Given the description of an element on the screen output the (x, y) to click on. 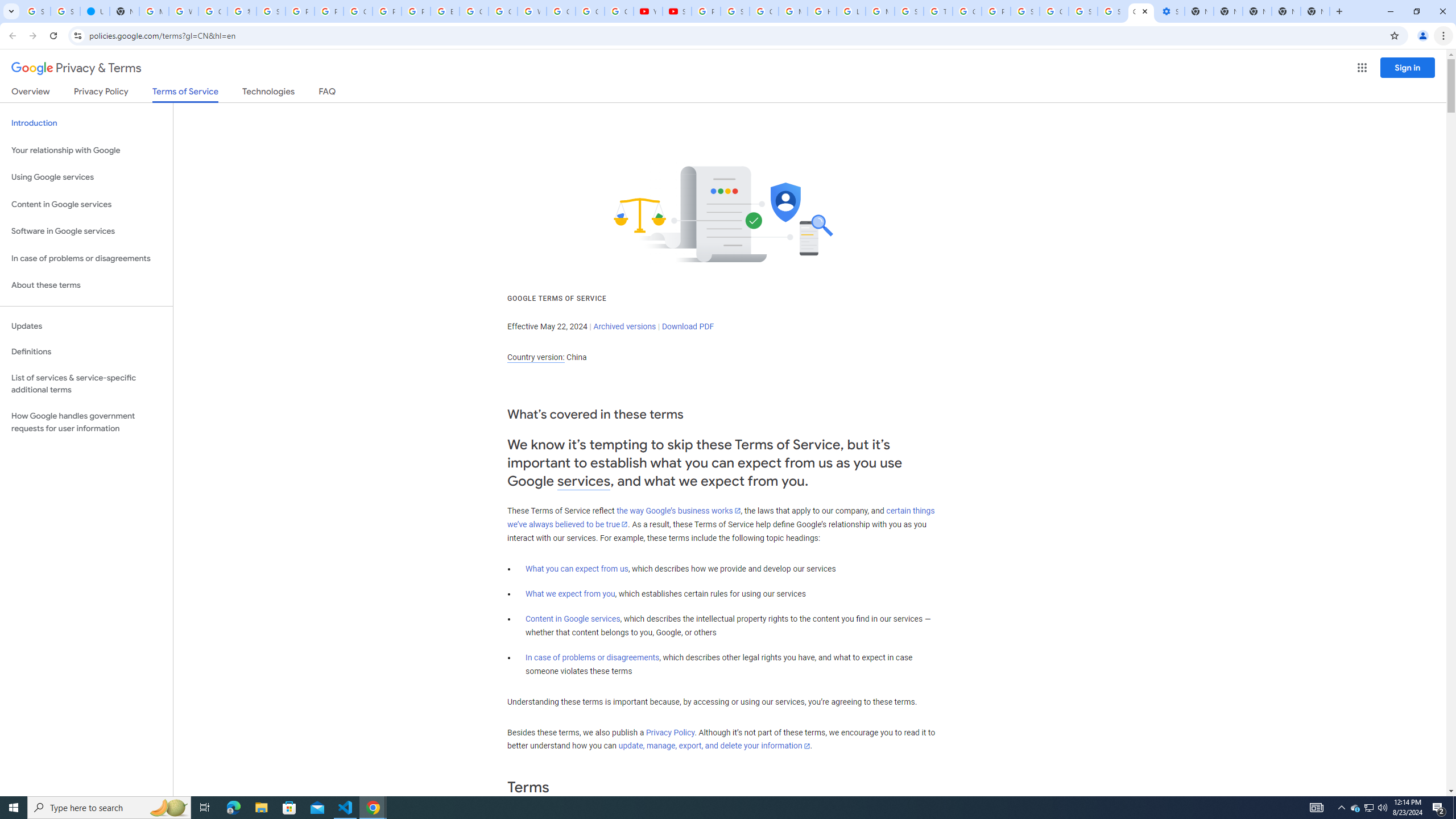
Software in Google services (86, 230)
Create your Google Account (357, 11)
Sign in - Google Accounts (271, 11)
Google Cybersecurity Innovations - Google Safety Center (1054, 11)
Google Ads - Sign in (967, 11)
